Given the description of an element on the screen output the (x, y) to click on. 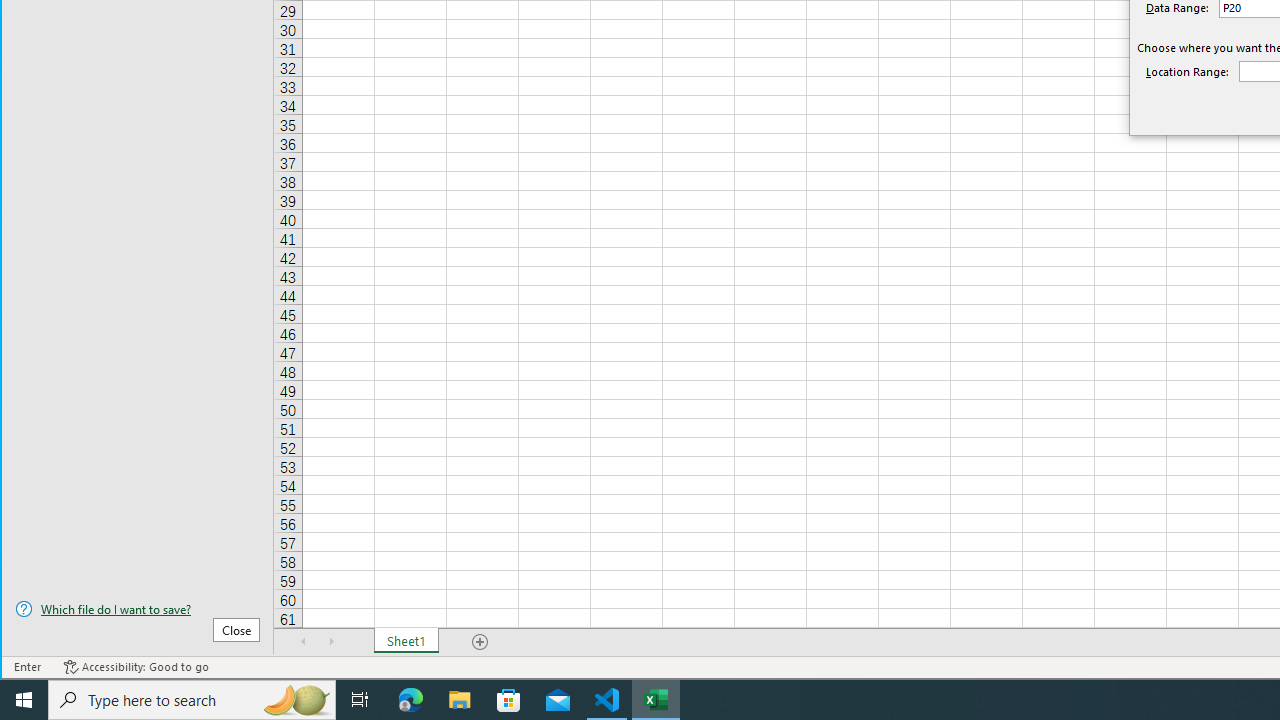
Which file do I want to save? (137, 609)
